Given the description of an element on the screen output the (x, y) to click on. 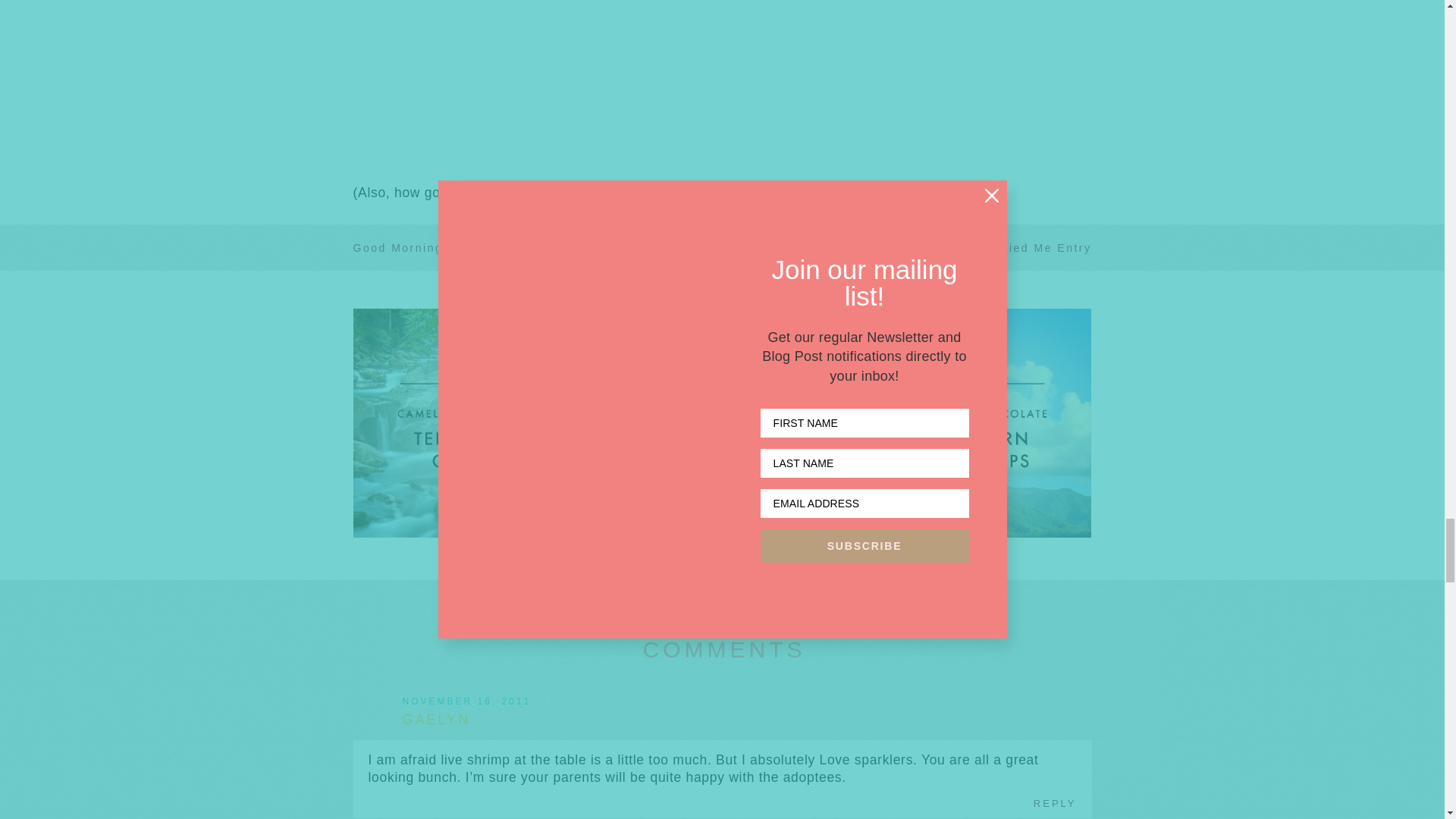
Good Morning, Vietnam: An Introduction to Ho Chi Minh (534, 247)
That Time Cambodia Almost Denied Me Entry (944, 247)
Dining, Ho Chi Minh, Vietnam (557, 84)
